Given the description of an element on the screen output the (x, y) to click on. 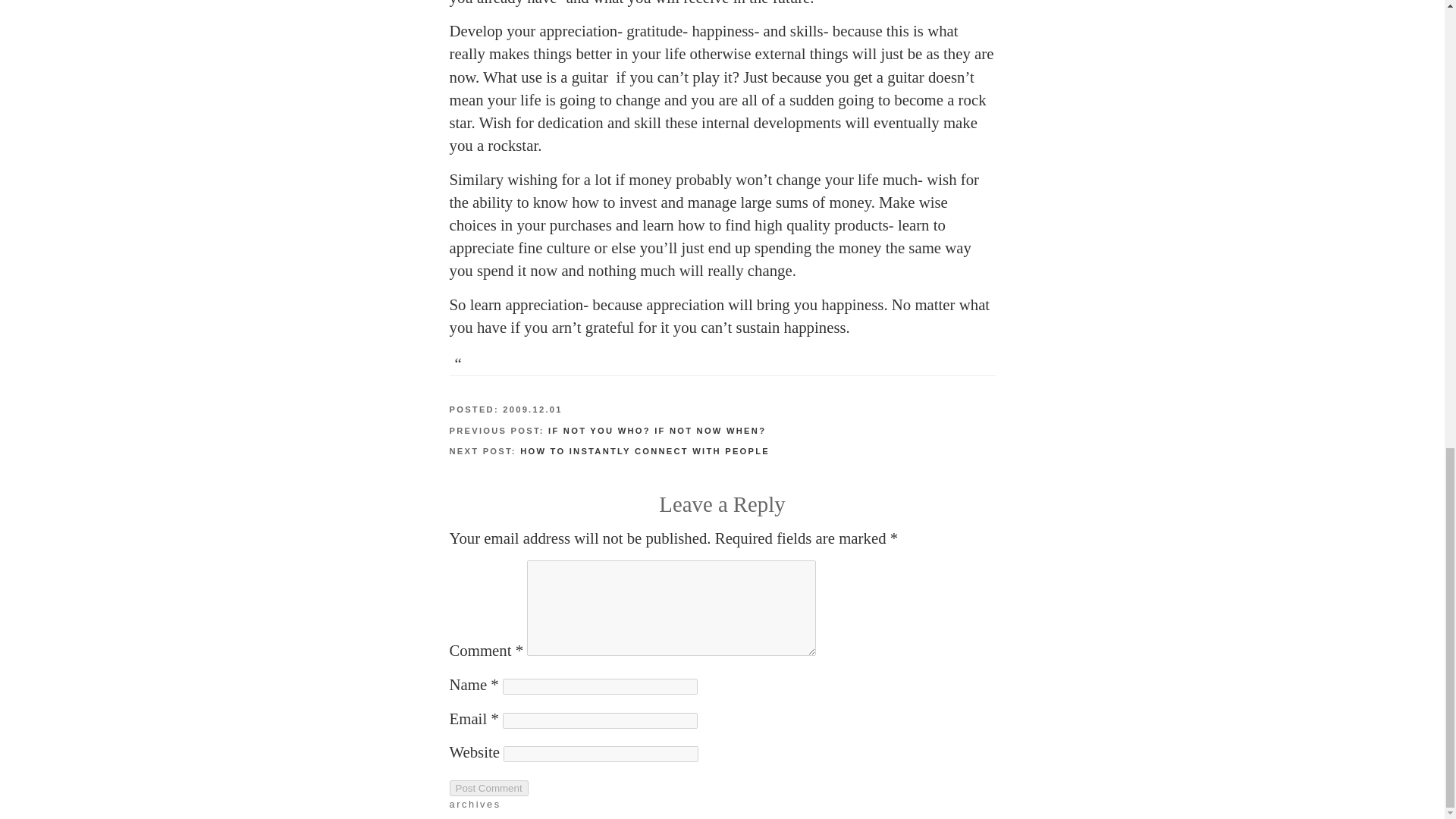
HOW TO INSTANTLY CONNECT WITH PEOPLE (644, 450)
Post Comment (487, 788)
archives (474, 803)
Post Comment (487, 788)
IF NOT YOU WHO? IF NOT NOW WHEN? (656, 429)
